Given the description of an element on the screen output the (x, y) to click on. 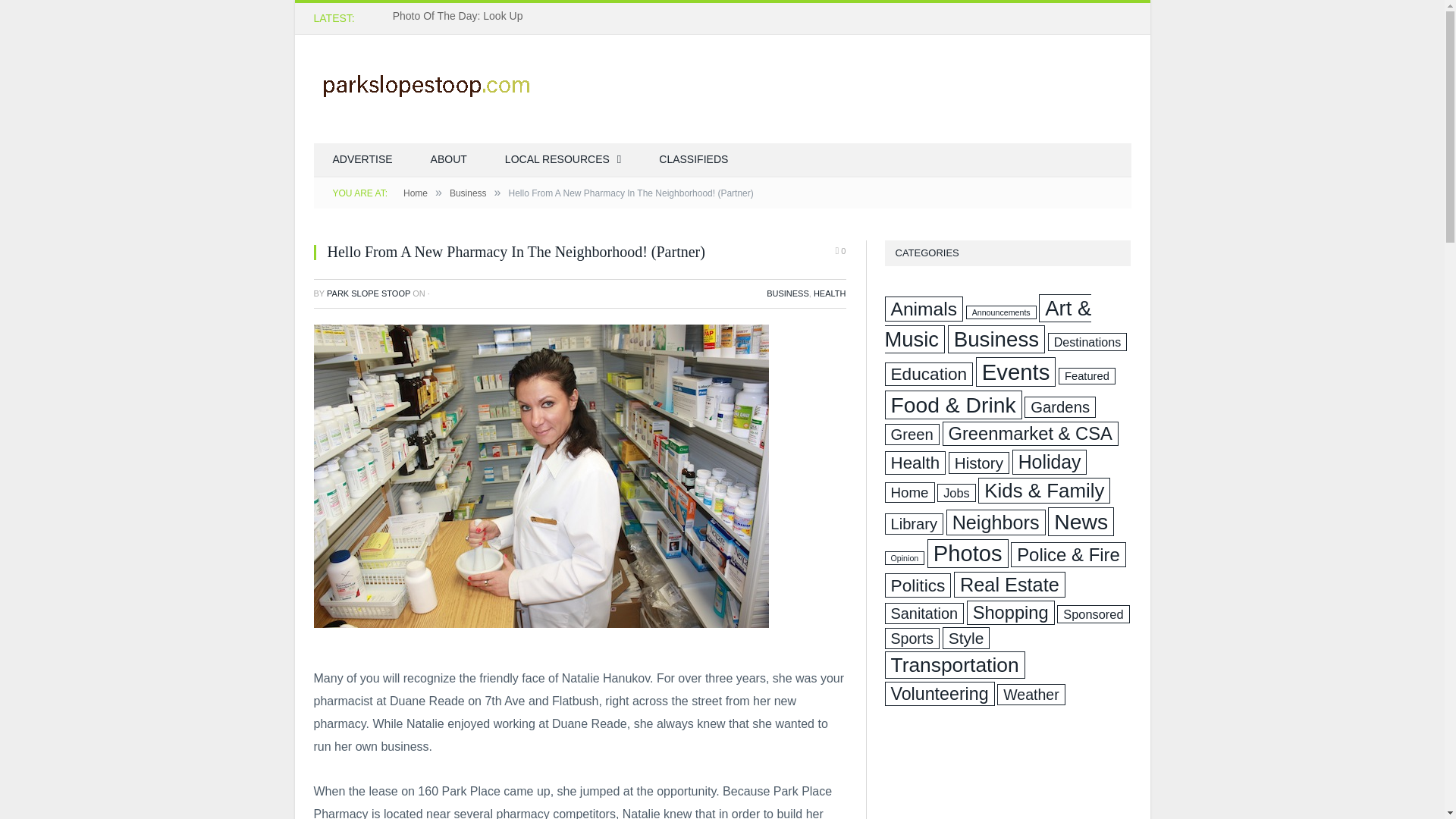
ABOUT (449, 160)
HEALTH (829, 293)
CLASSIFIEDS (693, 160)
Business (467, 193)
Home (415, 193)
ADVERTISE (363, 160)
BUSINESS (788, 293)
PARK SLOPE STOOP (368, 293)
Photo Of The Day: Look Up (462, 15)
LOCAL RESOURCES (563, 160)
Photo Of The Day: Look Up (462, 15)
